Given the description of an element on the screen output the (x, y) to click on. 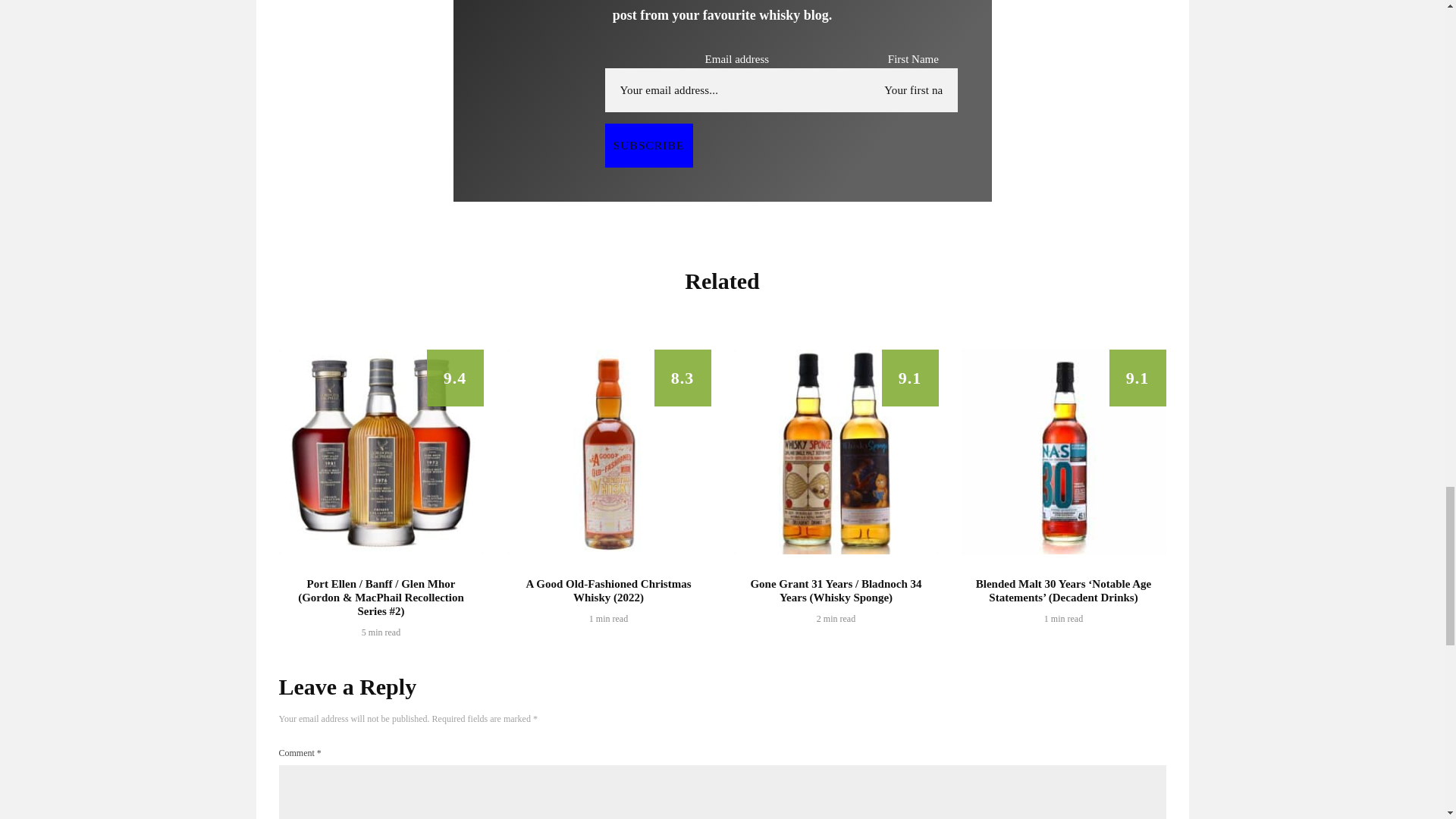
Subscribe (649, 145)
Subscribe (649, 145)
A Good Old Fashioned Christmas Whisky (608, 451)
gordon macphail recollection series part 2 (381, 451)
gone grant bladnoch review caperdonich whisky sponge (836, 451)
